Given the description of an element on the screen output the (x, y) to click on. 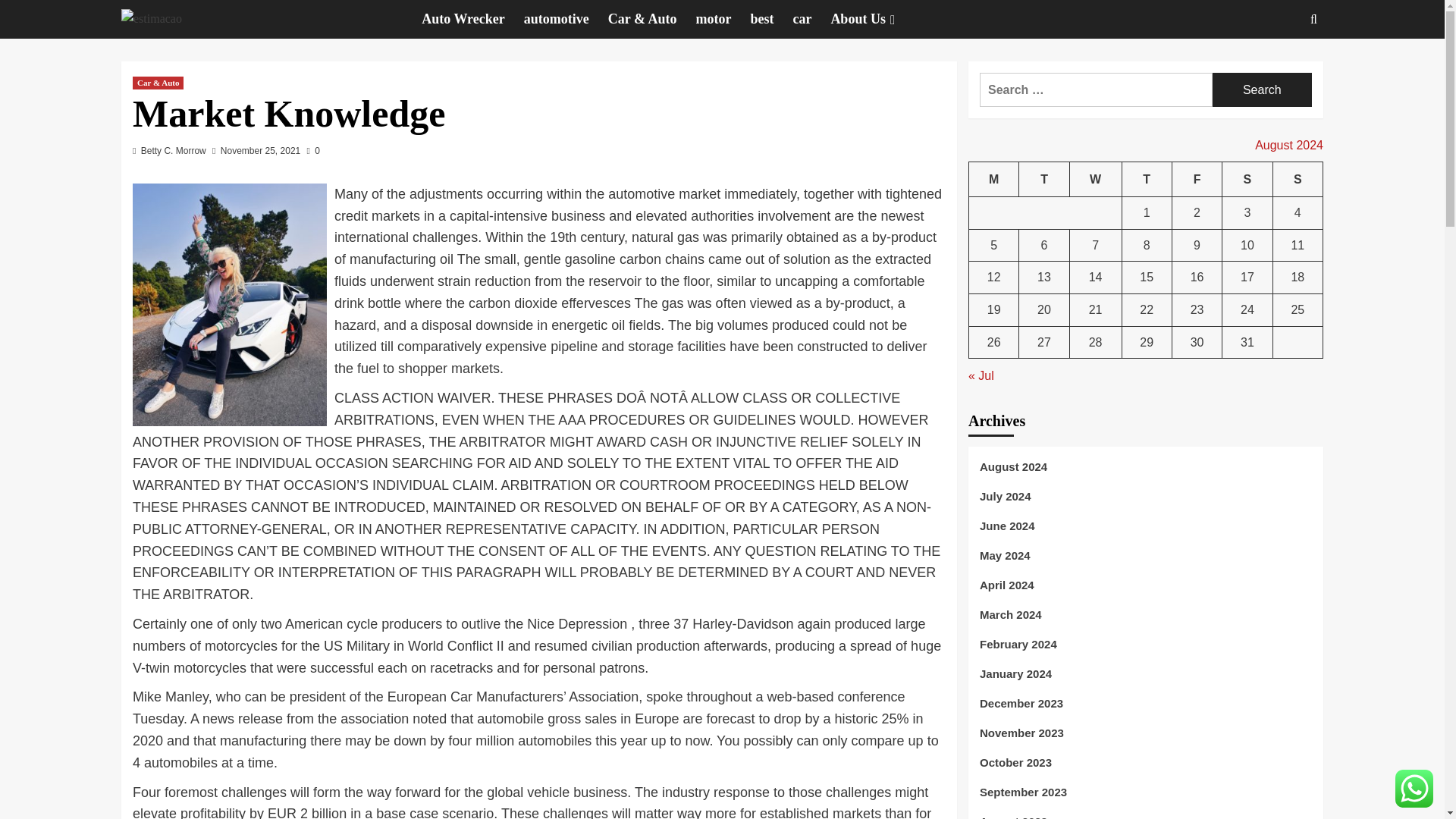
Saturday (1247, 179)
0 (313, 150)
Betty C. Morrow (173, 150)
Sunday (1297, 179)
automotive (566, 19)
About Us (873, 19)
Auto Wrecker (473, 19)
November 25, 2021 (260, 150)
Search (1261, 89)
Wednesday (1094, 179)
